Given the description of an element on the screen output the (x, y) to click on. 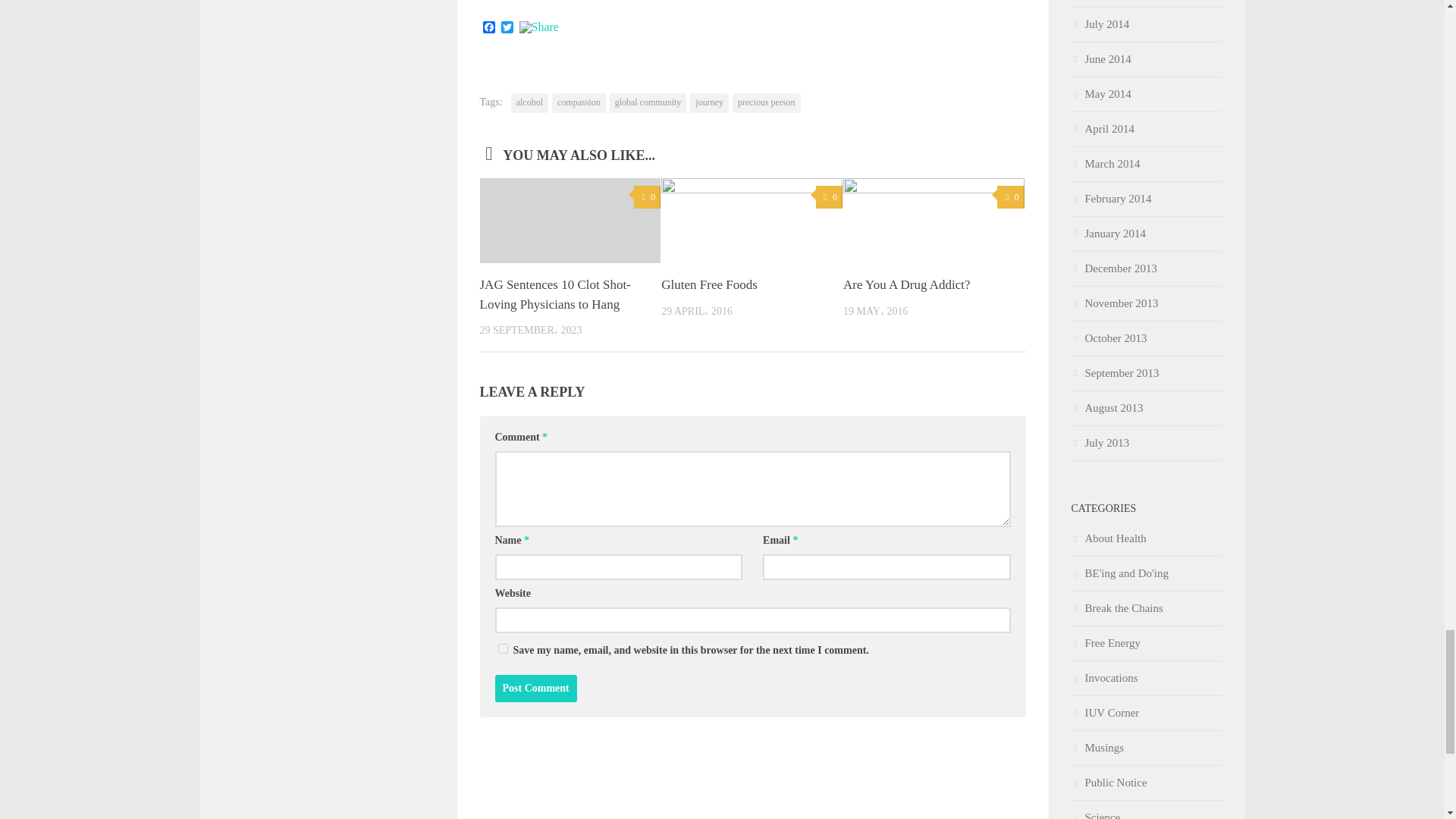
Twitter (506, 28)
Facebook (488, 28)
Twitter (506, 28)
yes (501, 647)
Facebook (488, 28)
Post Comment (535, 687)
